Given the description of an element on the screen output the (x, y) to click on. 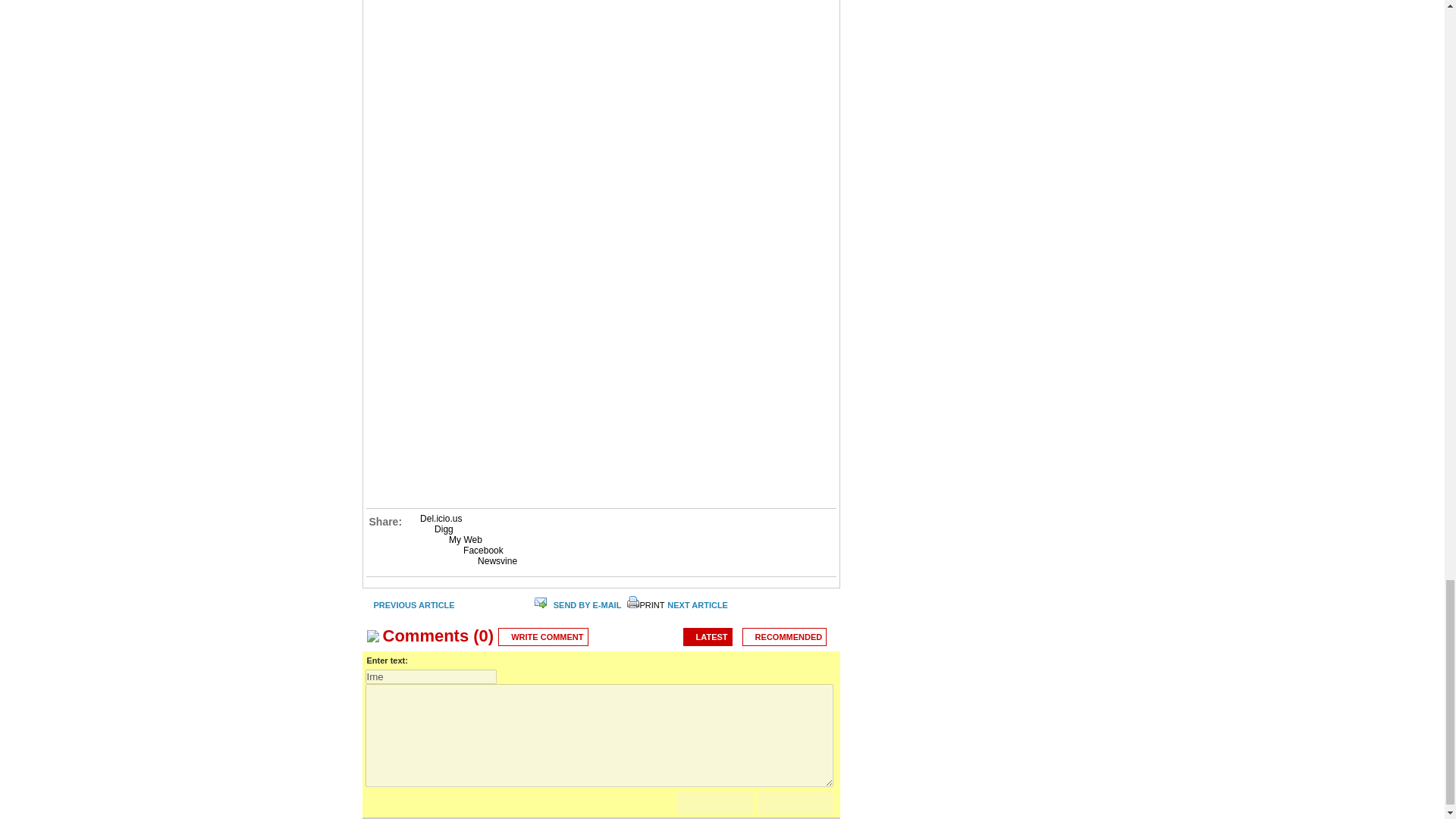
Ime (430, 676)
